Given the description of an element on the screen output the (x, y) to click on. 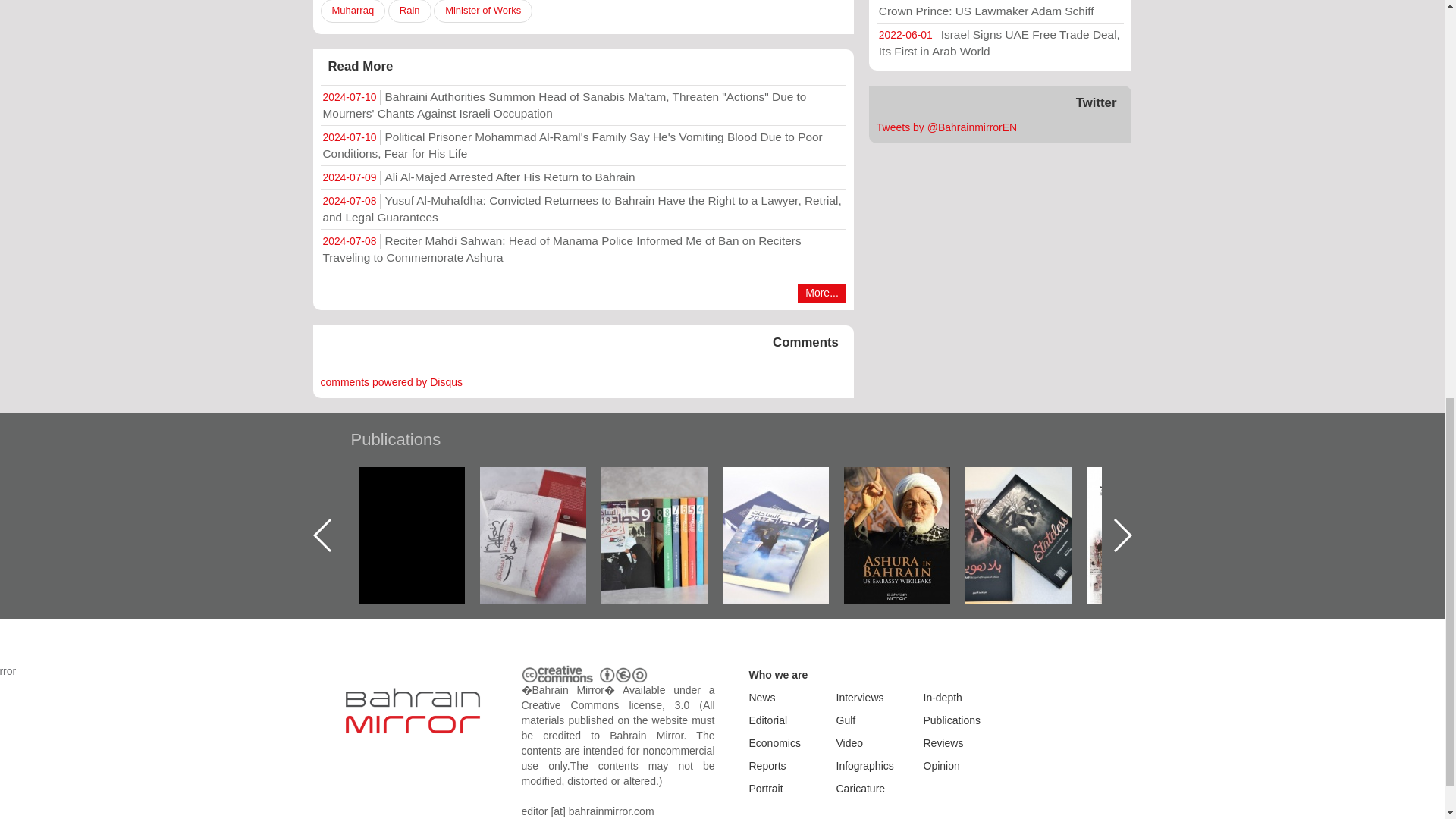
Minister of Works (482, 11)
Muharraq (352, 11)
Rain (409, 11)
